Given the description of an element on the screen output the (x, y) to click on. 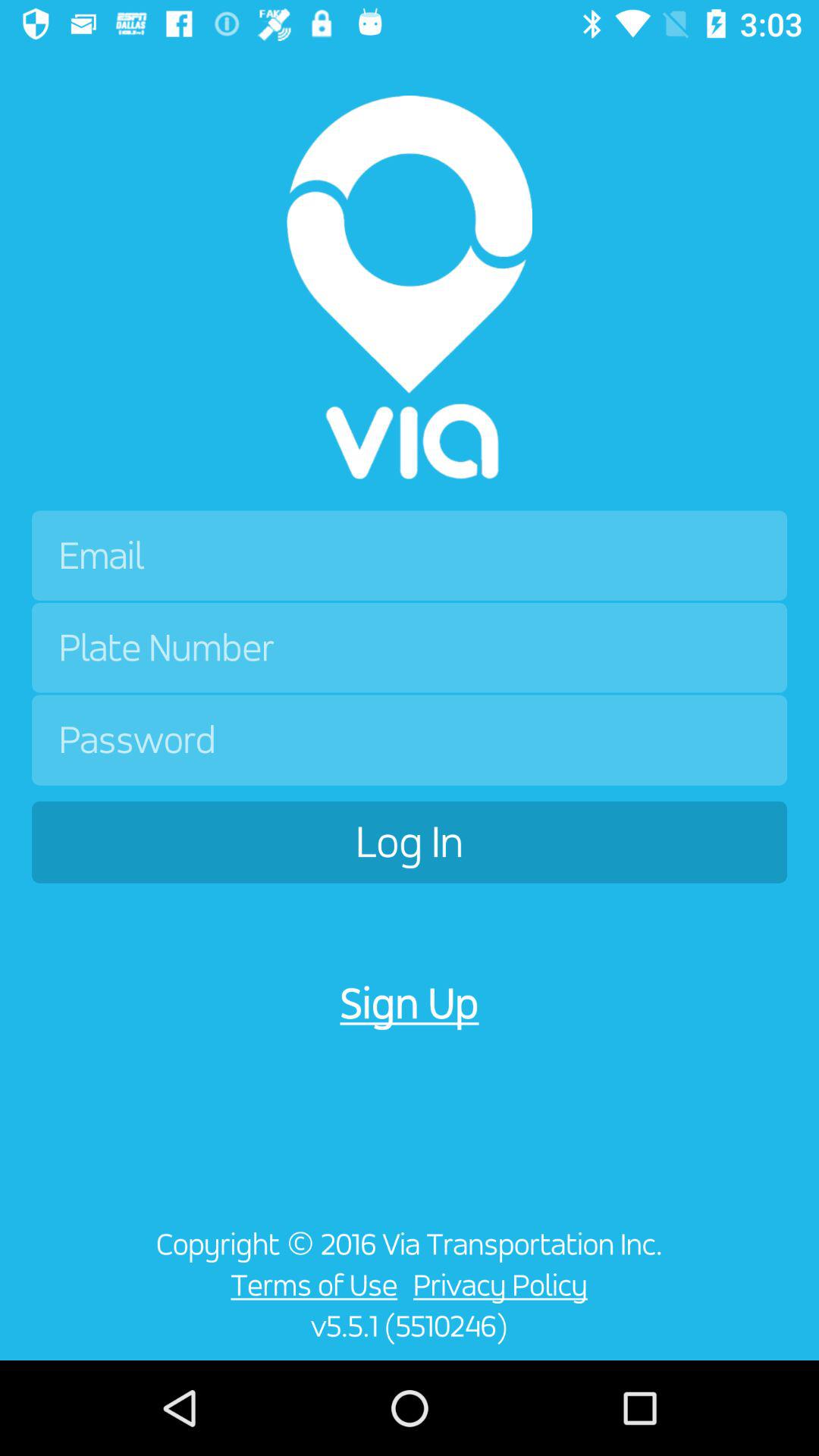
choose item below the copyright 2016 via (309, 1284)
